Given the description of an element on the screen output the (x, y) to click on. 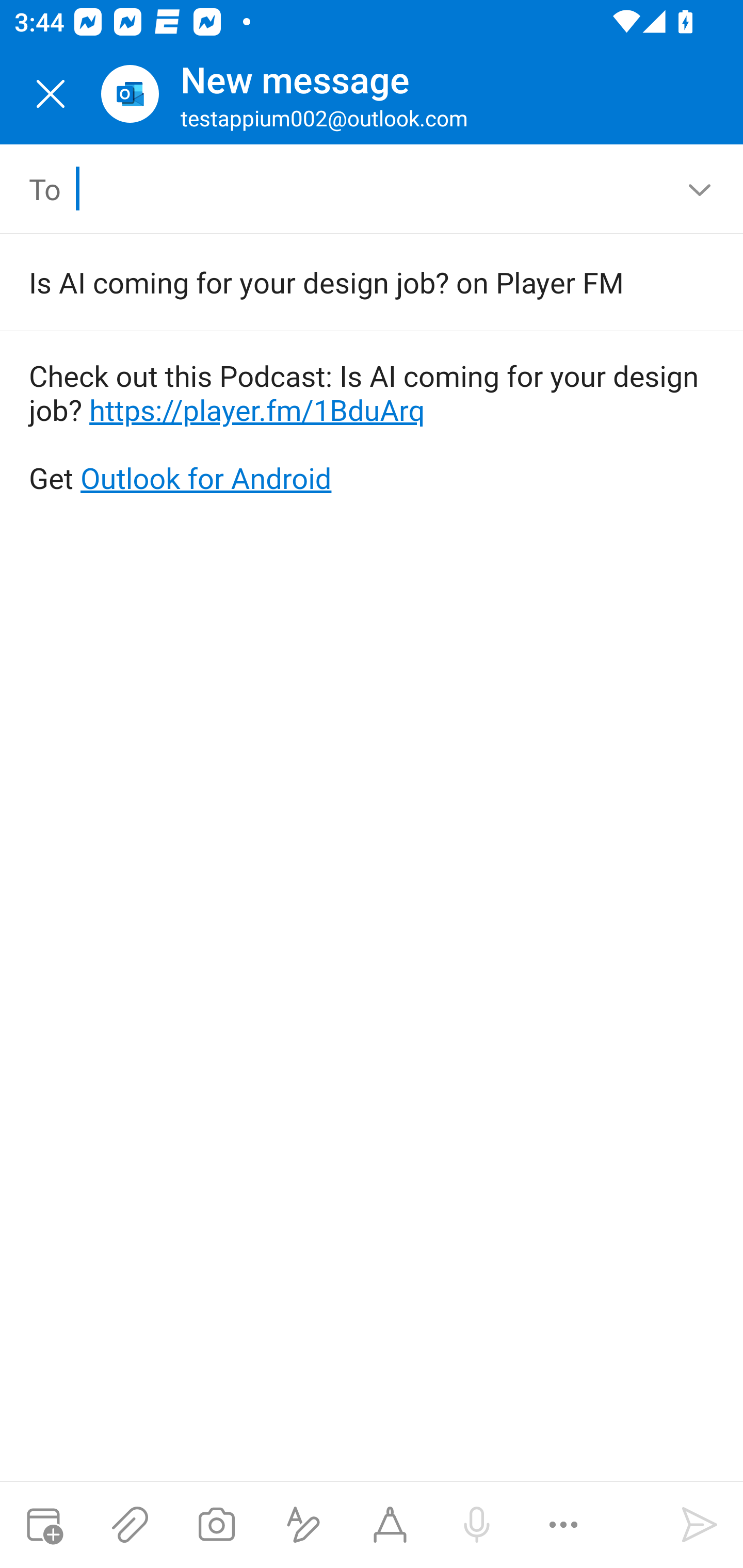
Close (50, 93)
Is AI coming for your design job? on Player FM (342, 281)
Attach meeting (43, 1524)
Attach files (129, 1524)
Take a photo (216, 1524)
Show formatting options (303, 1524)
Start Ink compose (389, 1524)
More options (563, 1524)
Send (699, 1524)
